Given the description of an element on the screen output the (x, y) to click on. 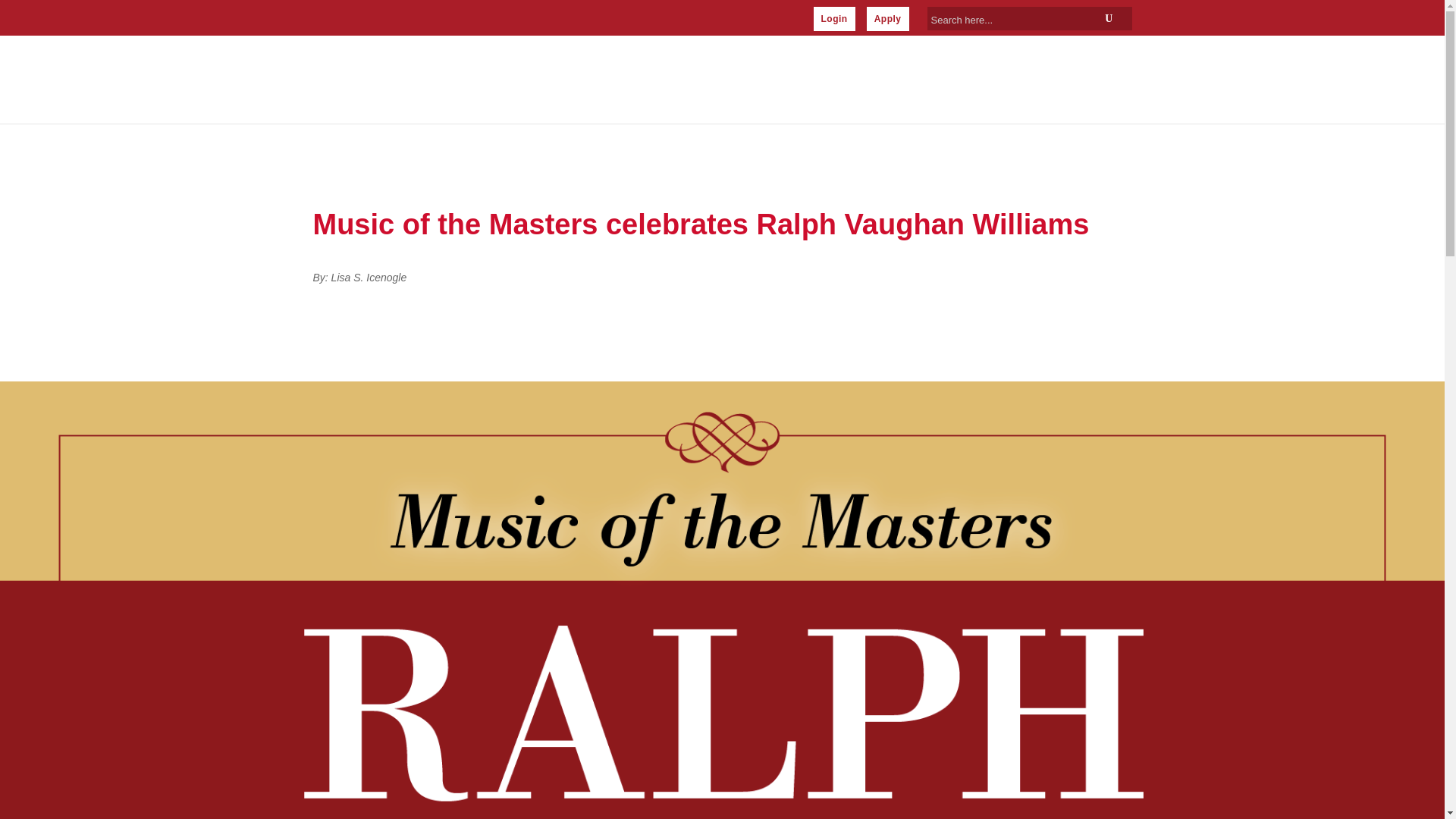
Apply (887, 18)
U (1108, 18)
About (636, 81)
Login (833, 18)
